Given the description of an element on the screen output the (x, y) to click on. 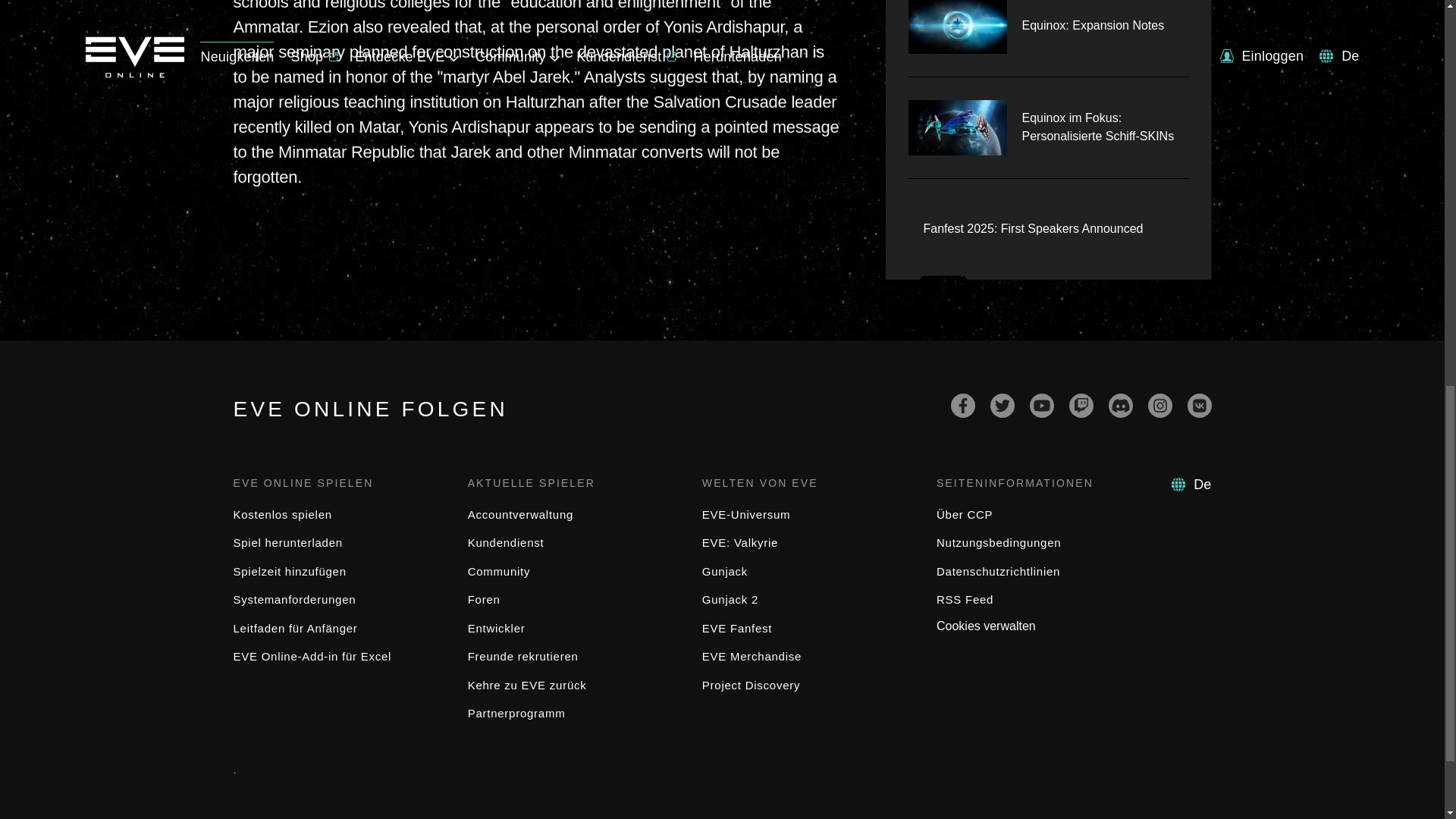
Discord (1120, 405)
VK (1199, 405)
Instagram (1160, 405)
YouTube (1041, 405)
Facebook (962, 405)
Twitter (1002, 405)
Twitch (1080, 405)
